Given the description of an element on the screen output the (x, y) to click on. 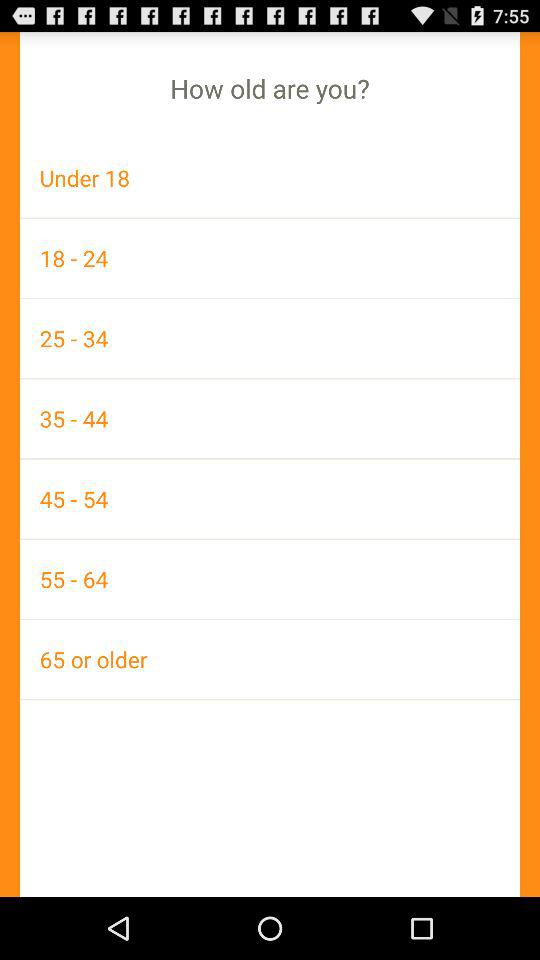
open the icon above 55 - 64 item (269, 498)
